Given the description of an element on the screen output the (x, y) to click on. 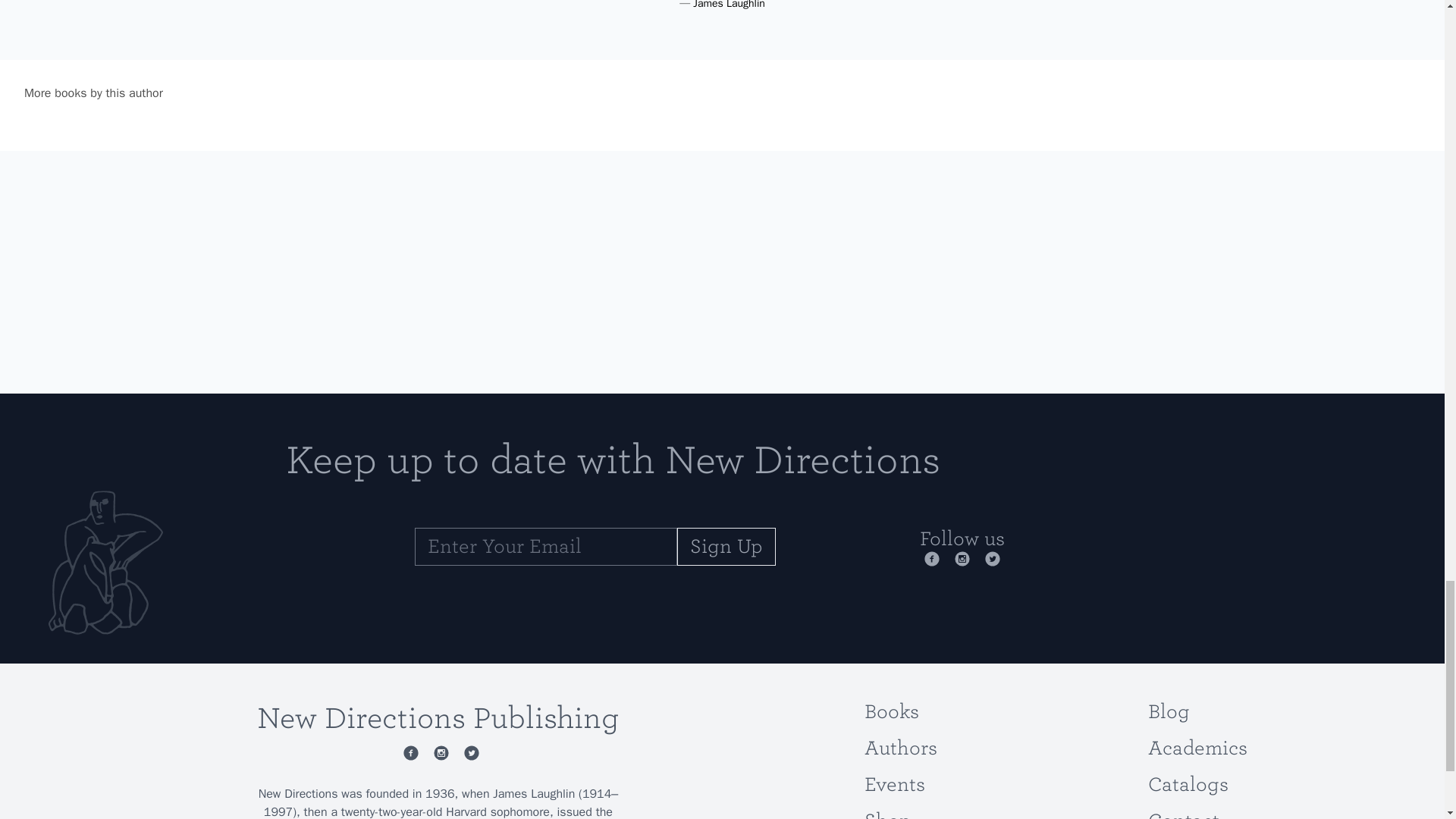
instagram (437, 752)
Books page (891, 711)
twitter (468, 752)
Academics page (1197, 748)
Blog page (1168, 711)
facebook (407, 752)
Authors page (900, 748)
Contact page (1184, 814)
instagram (959, 558)
twitter (988, 558)
